Given the description of an element on the screen output the (x, y) to click on. 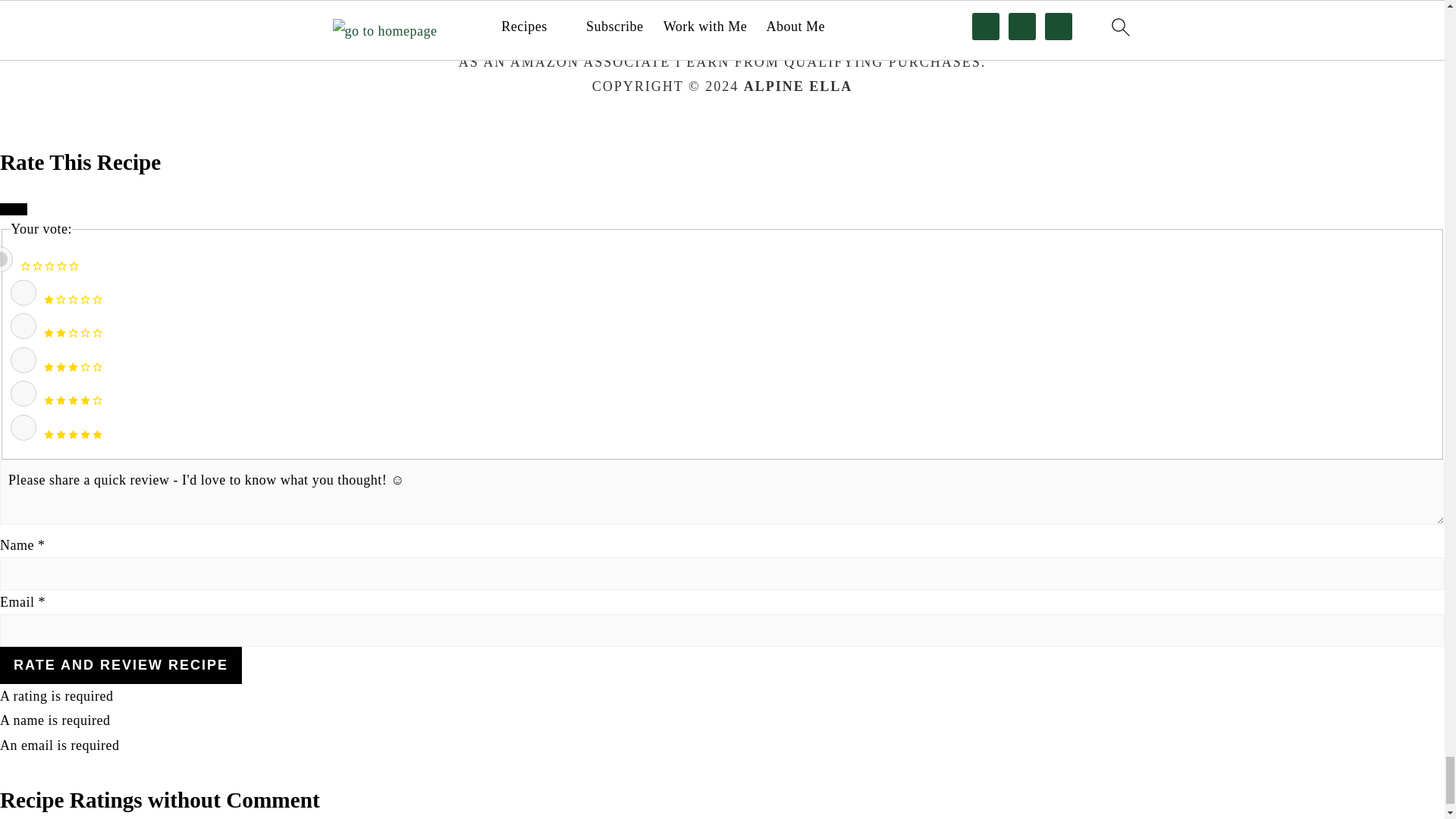
2 (23, 325)
3 (23, 360)
1 (23, 292)
4 (23, 393)
5 (23, 427)
